Given the description of an element on the screen output the (x, y) to click on. 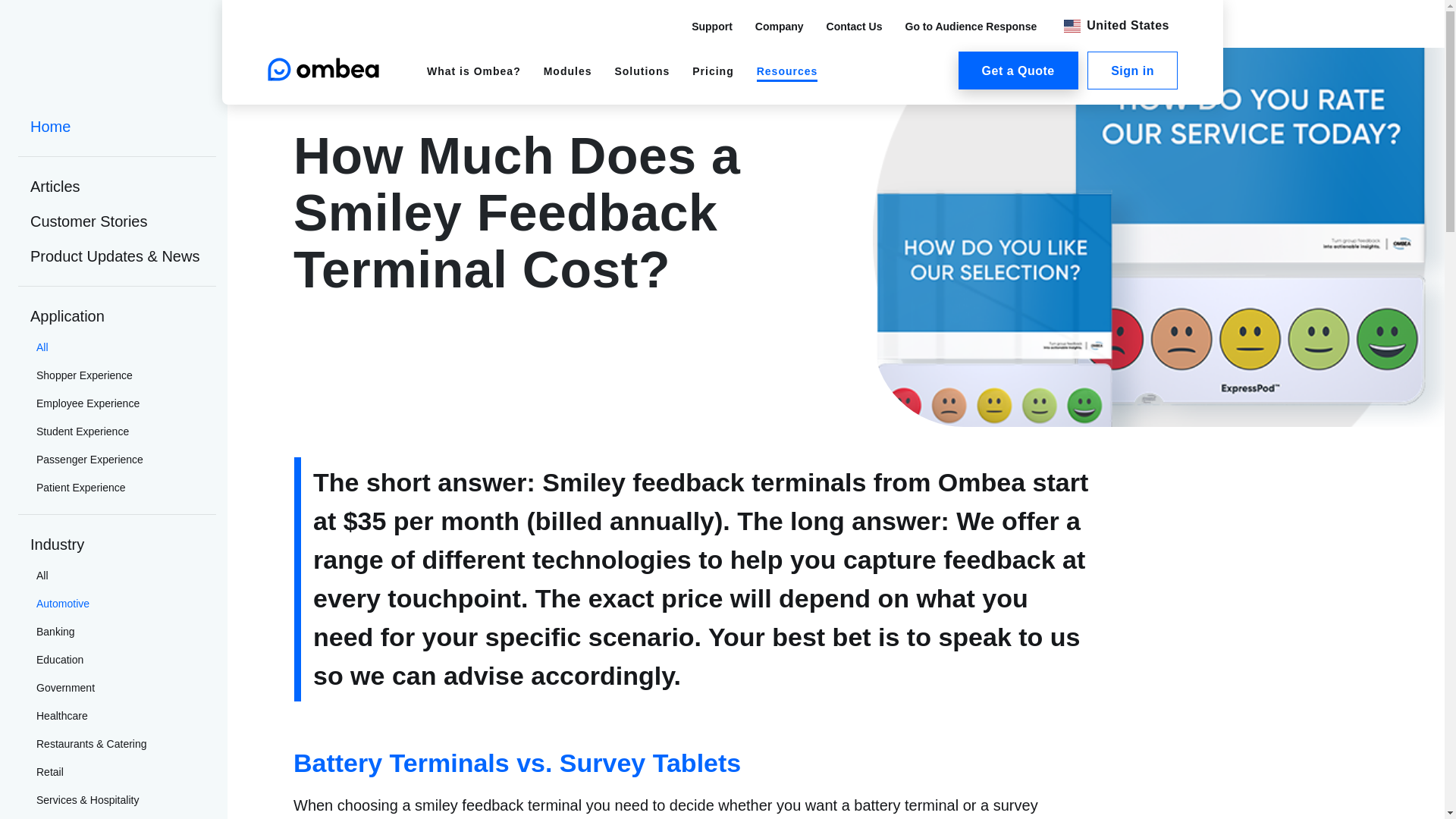
Go to Audience Response (970, 26)
Support (711, 26)
Resources (785, 72)
Solutions (641, 71)
What is Ombea? (472, 71)
Contact Us (853, 26)
Sign in (1132, 70)
United States (1112, 25)
Get a Quote (1017, 70)
Pricing (713, 71)
Modules (567, 71)
Company (778, 26)
